Given the description of an element on the screen output the (x, y) to click on. 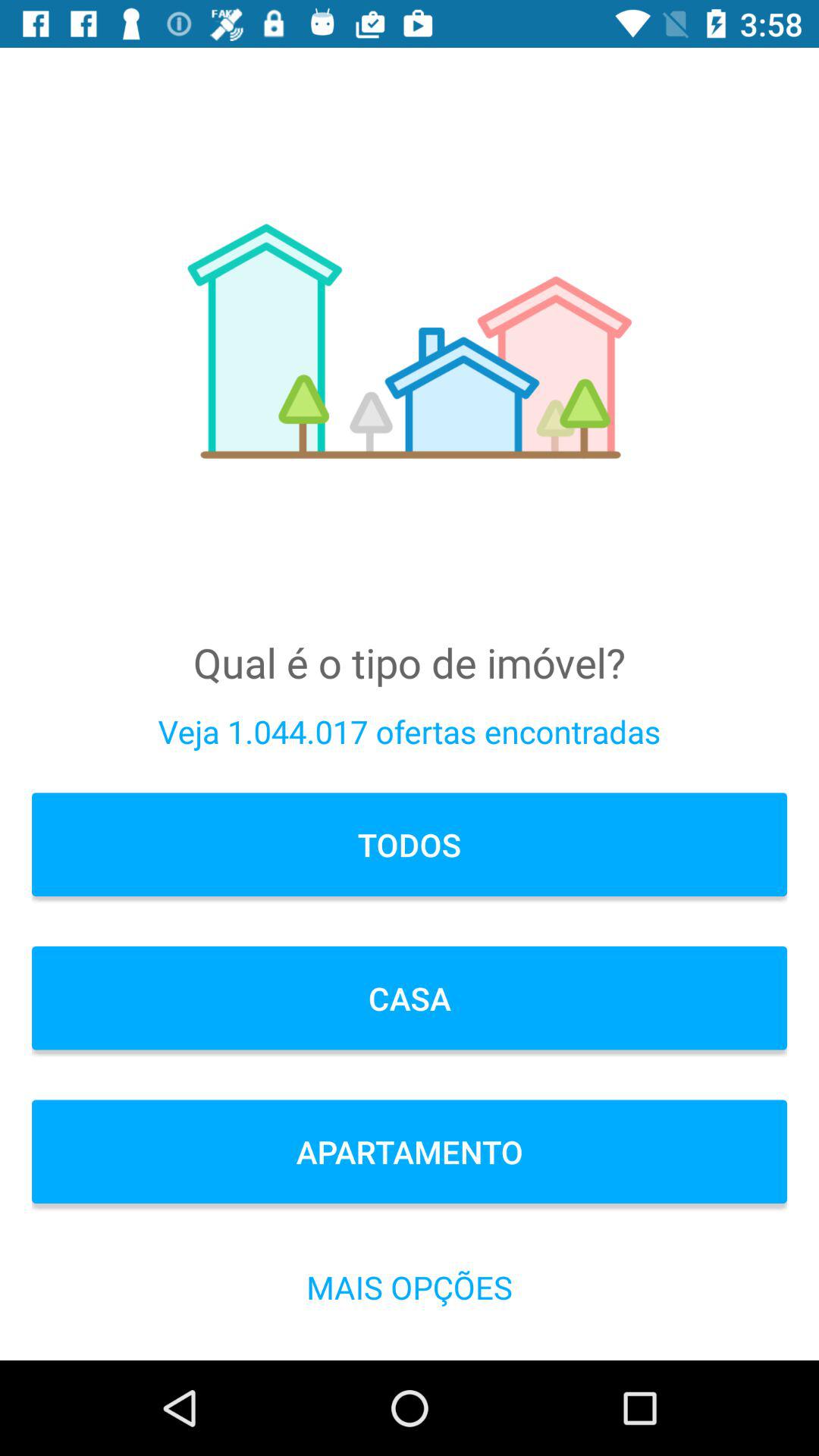
turn on apartamento item (409, 1151)
